Given the description of an element on the screen output the (x, y) to click on. 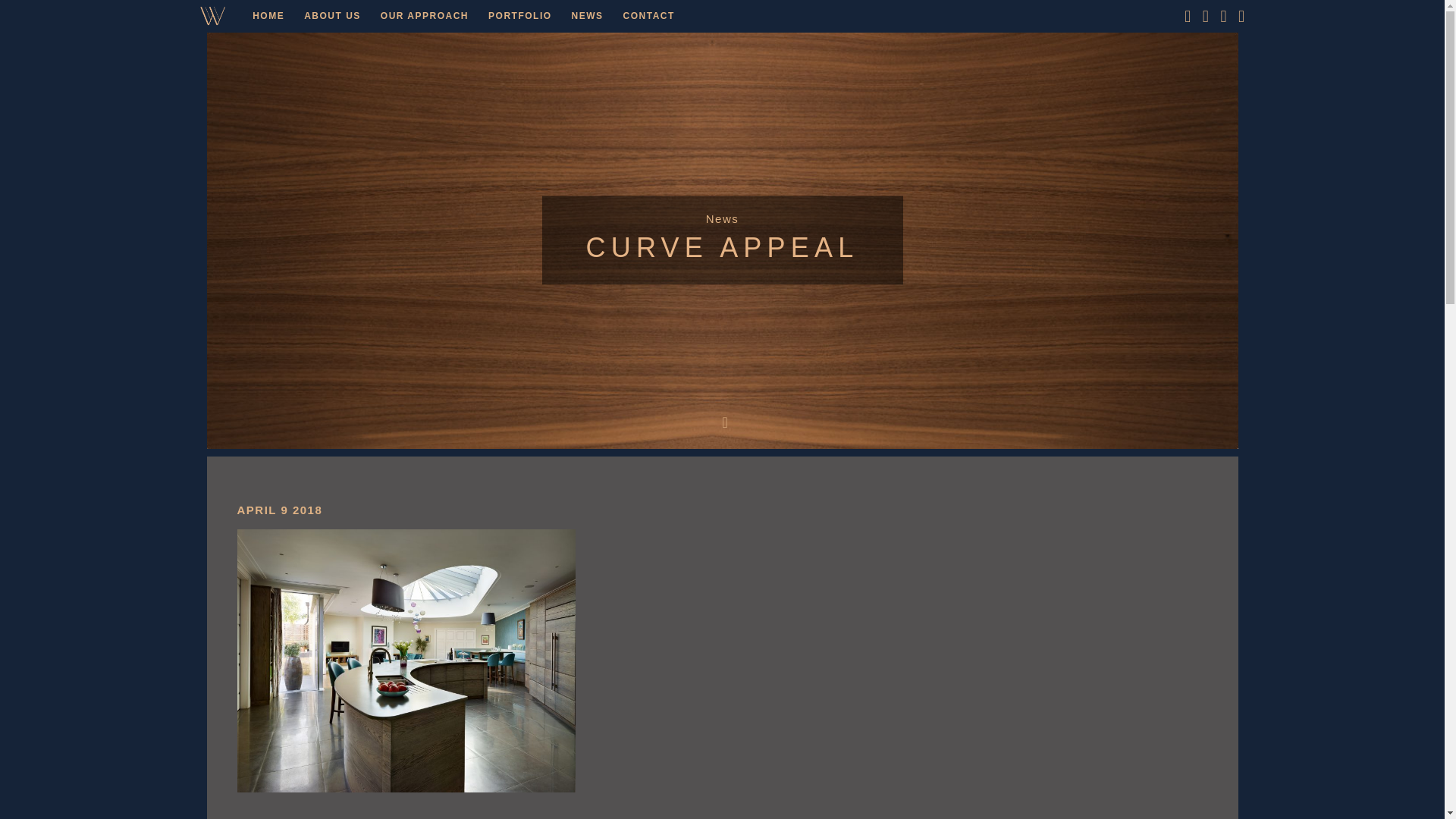
PORTFOLIO (520, 15)
HOME (268, 15)
ABOUT US (332, 15)
NEWS (587, 15)
CONTACT (648, 15)
OUR APPROACH (425, 15)
